Given the description of an element on the screen output the (x, y) to click on. 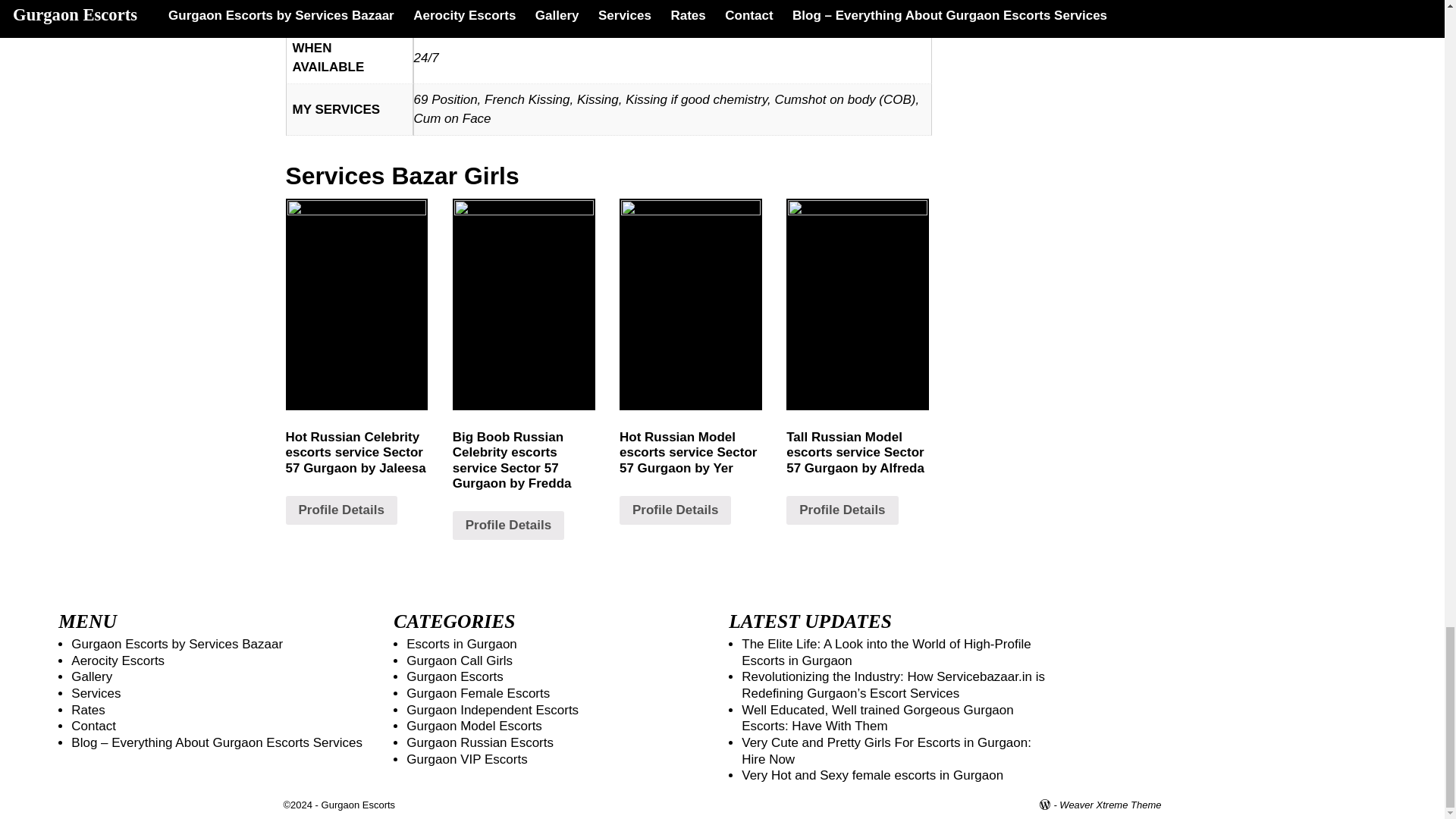
Proudly powered by WordPress (1049, 804)
Gurgaon Escorts (358, 804)
Weaver Xtreme Theme (1109, 804)
